Given the description of an element on the screen output the (x, y) to click on. 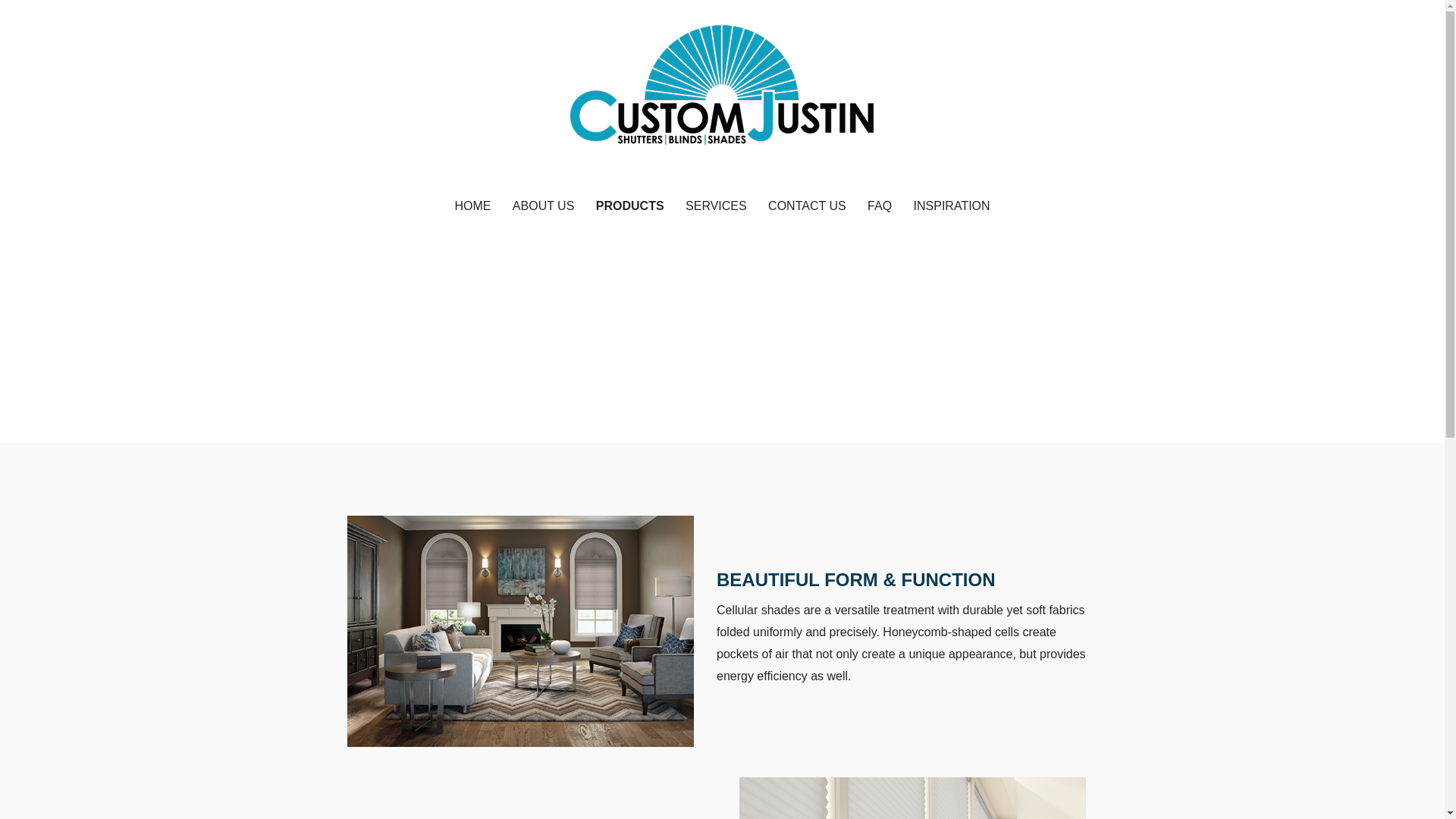
GCS3000R121714KA (520, 630)
PRODUCTS (629, 206)
Cellular Shades (912, 798)
SERVICES (716, 206)
Custom Justin (408, 173)
CONTACT US (807, 206)
HOME (472, 206)
INSPIRATION (951, 206)
ABOUT US (543, 206)
